Given the description of an element on the screen output the (x, y) to click on. 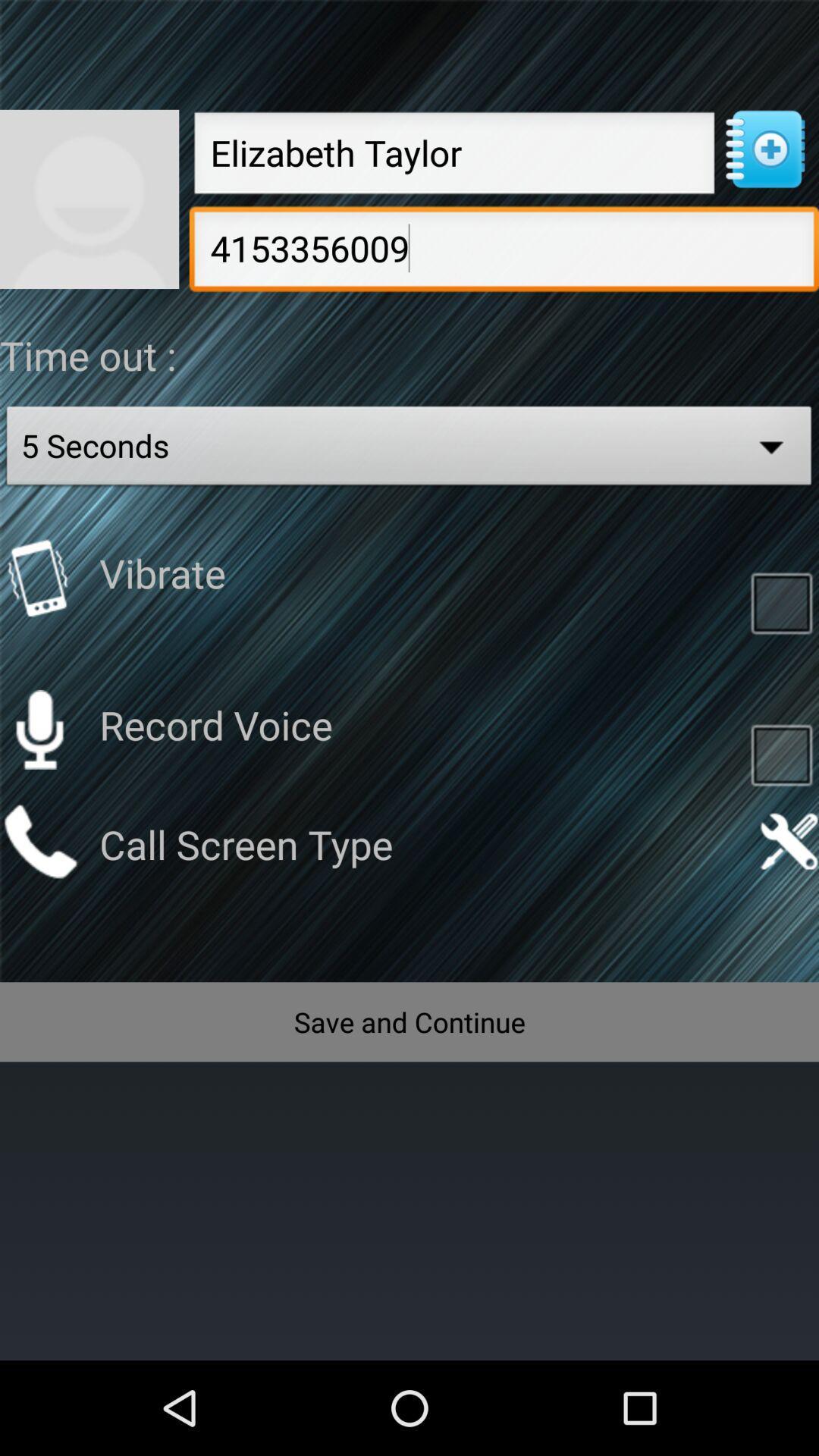
set to vibrate (39, 577)
